Given the description of an element on the screen output the (x, y) to click on. 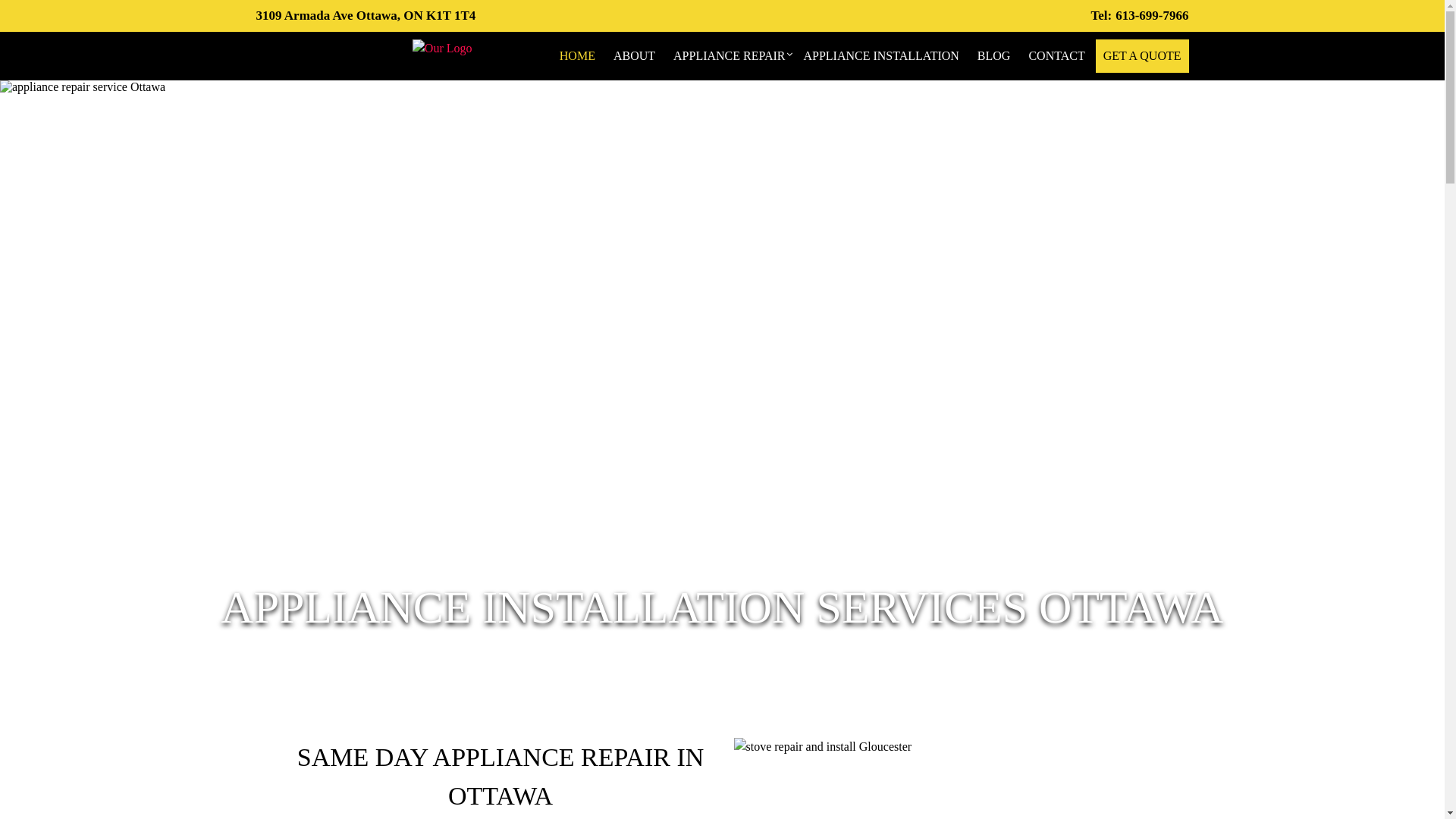
BLOG Element type: text (993, 55)
APPLIANCE INSTALLATION Element type: text (880, 55)
build in oven repair Element type: hover (722, 384)
APPLIANCE REPAIR Element type: text (728, 55)
ABOUT Element type: text (633, 55)
CONTACT Element type: text (1056, 55)
HOME Element type: text (577, 55)
GET A QUOTE Element type: text (1142, 55)
613-699-7966 Element type: text (1139, 15)
3109 Armada Ave Ottawa, ON K1T 1T4 Element type: text (366, 15)
